Given the description of an element on the screen output the (x, y) to click on. 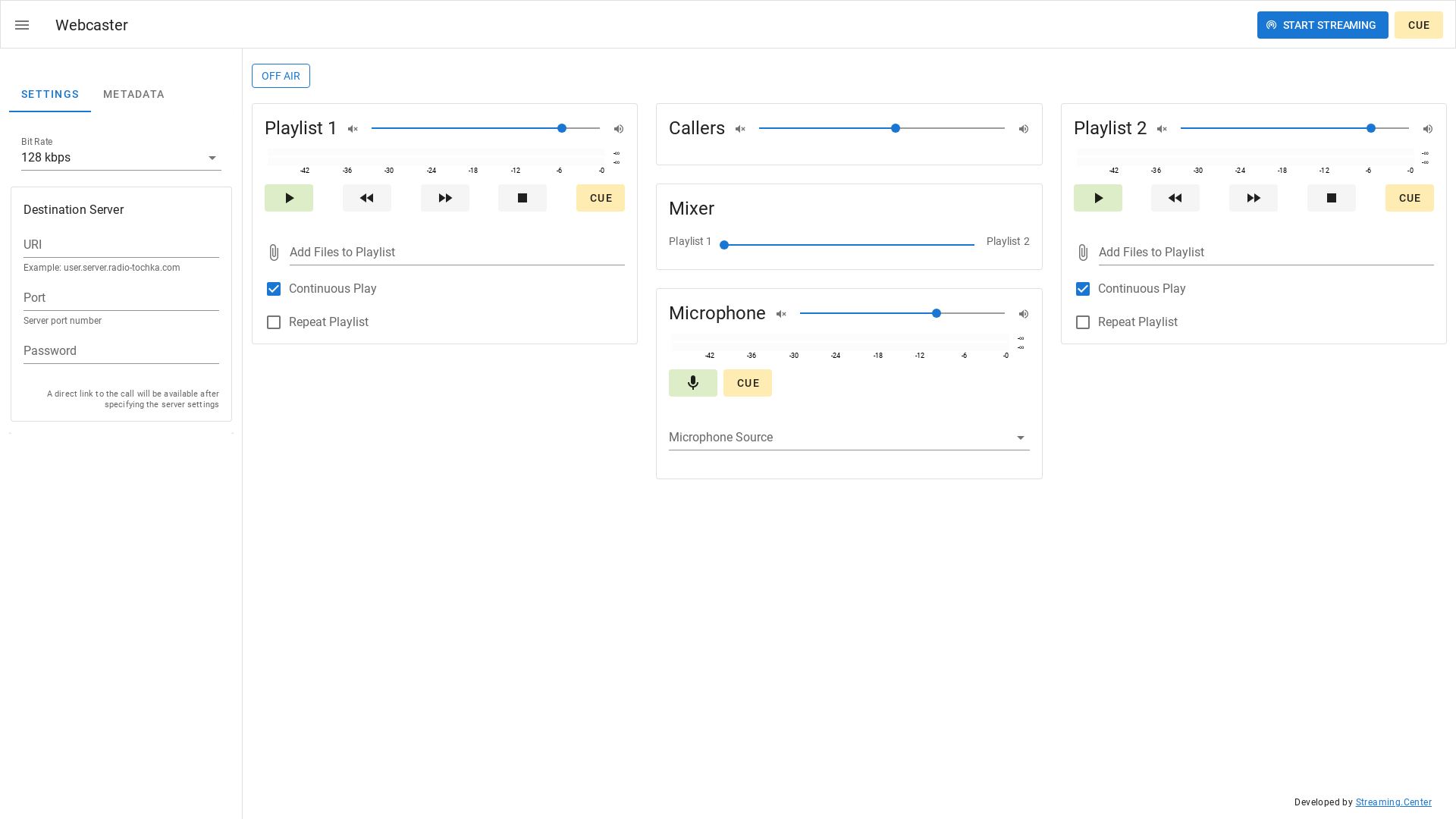
CUE Element type: text (1418, 24)
Streaming.Center Element type: text (1393, 802)
START STREAMING Element type: text (1322, 24)
CUE Element type: text (600, 197)
CUE Element type: text (1409, 197)
CUE Element type: text (747, 382)
